Given the description of an element on the screen output the (x, y) to click on. 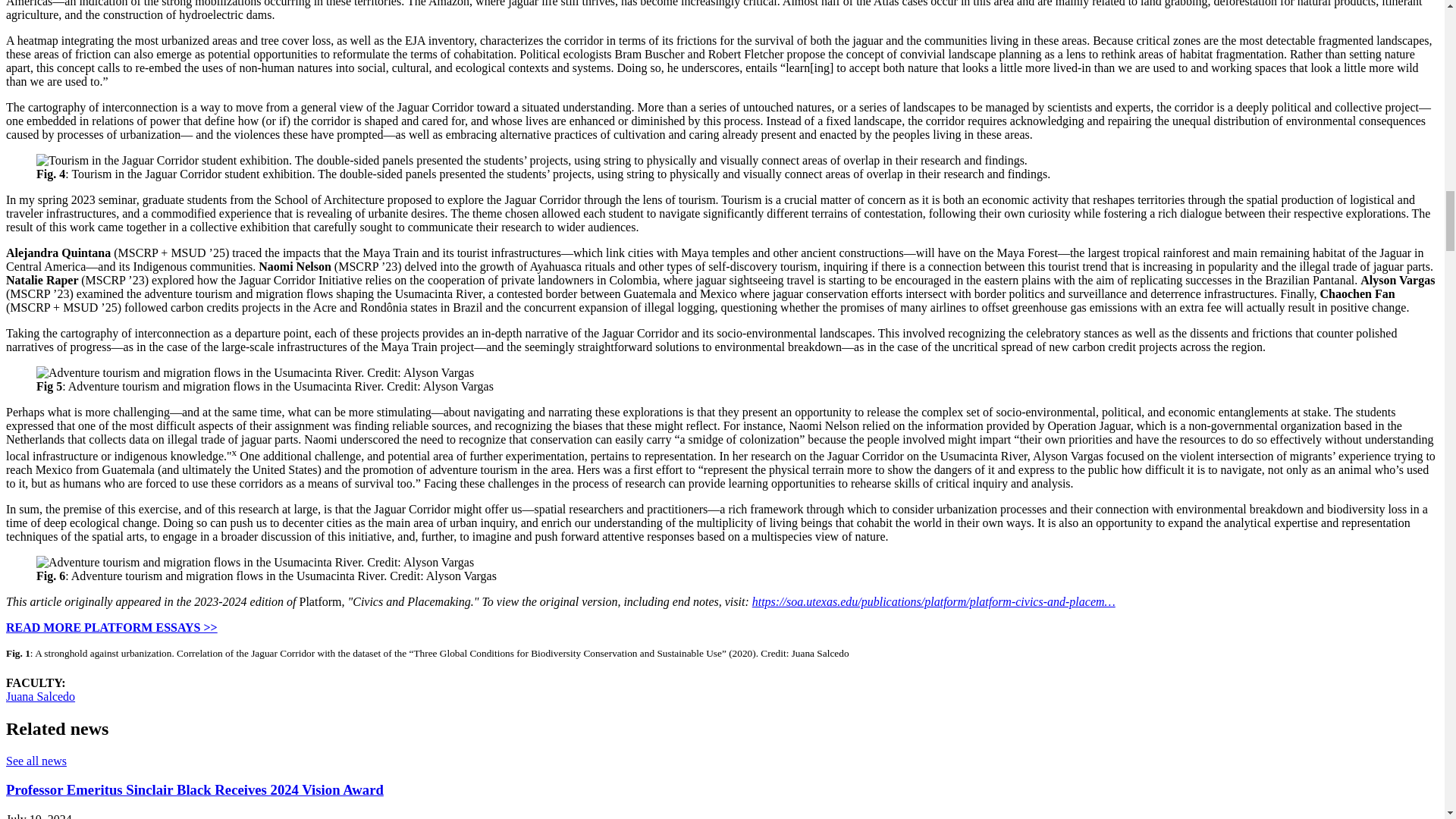
PLATFORM: Civics and Placemaking (110, 626)
Juana Salcedo (40, 696)
